Given the description of an element on the screen output the (x, y) to click on. 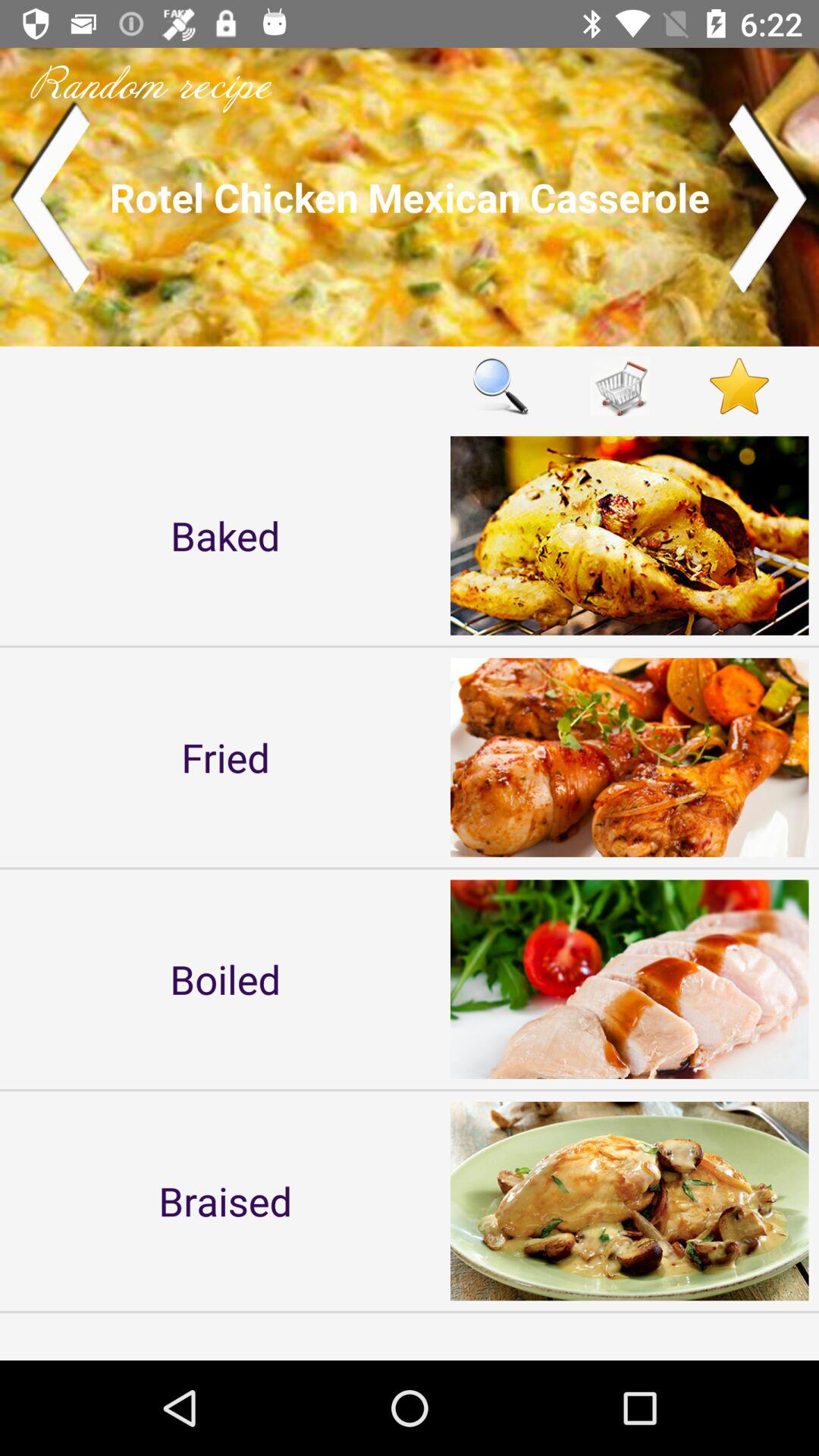
go to cart (619, 385)
